Given the description of an element on the screen output the (x, y) to click on. 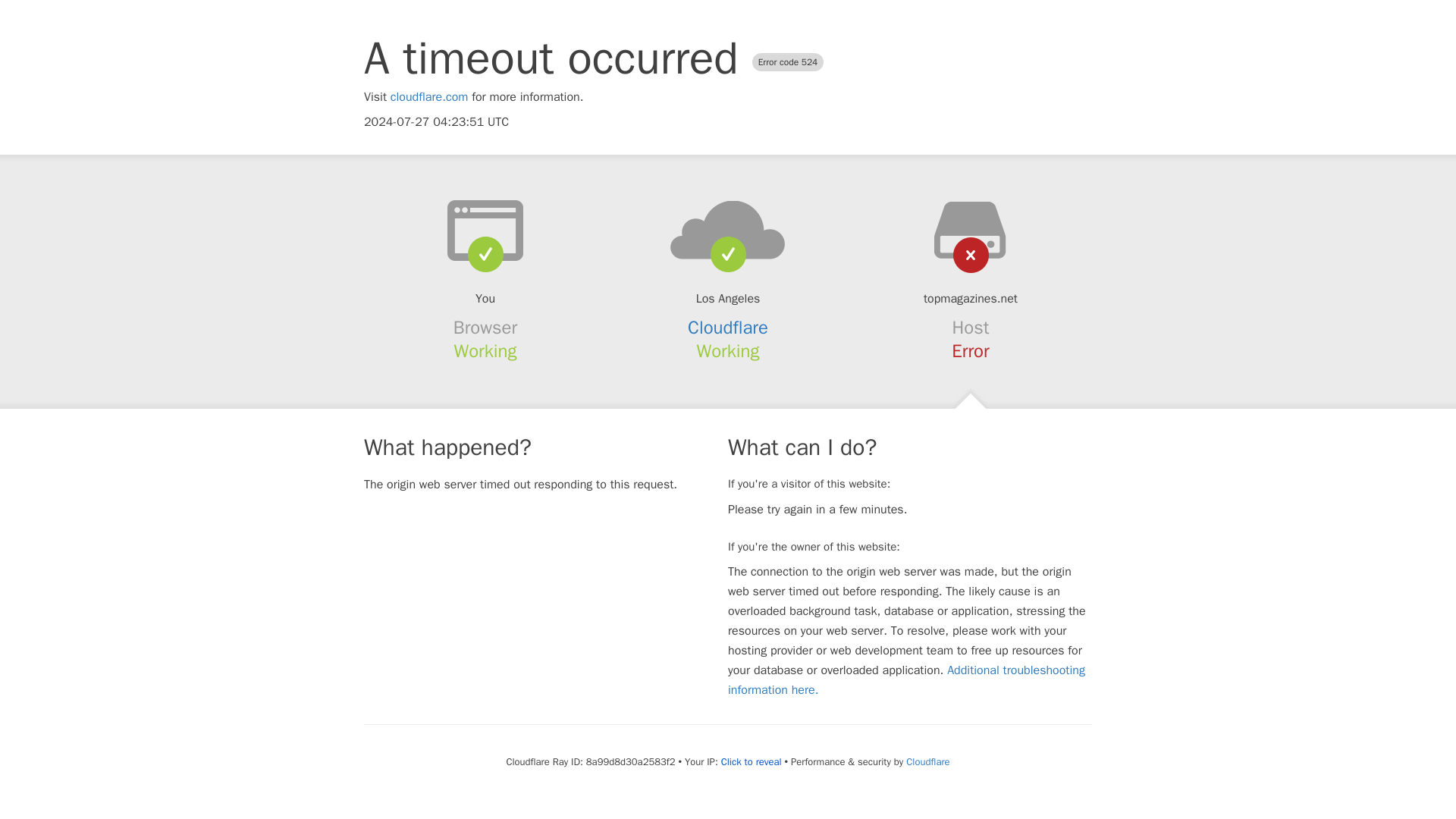
Cloudflare (927, 761)
Click to reveal (750, 762)
Cloudflare (727, 327)
Additional troubleshooting information here. (906, 679)
cloudflare.com (429, 96)
